Given the description of an element on the screen output the (x, y) to click on. 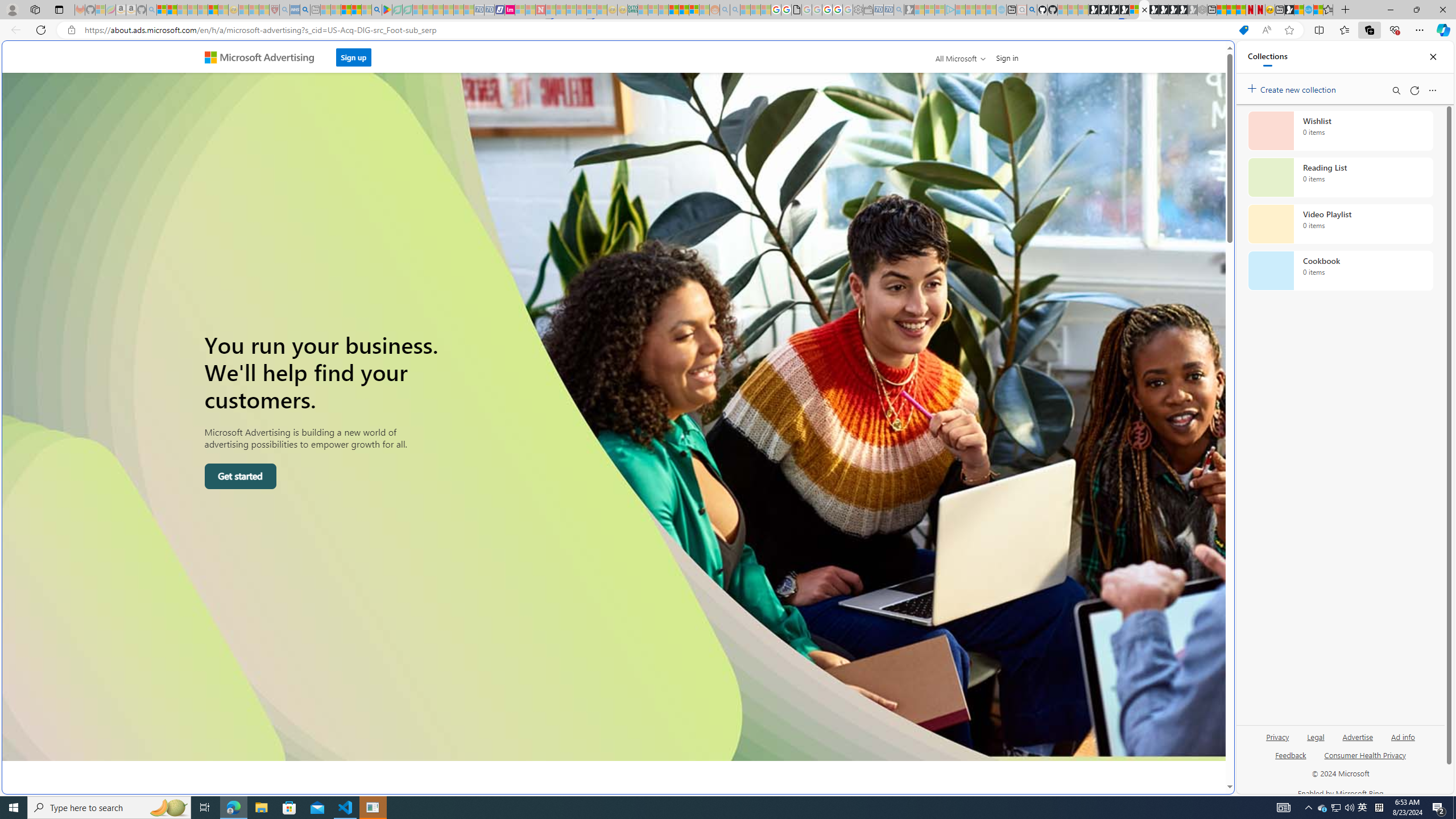
Create new collection (1293, 87)
Sign in to your account (1134, 9)
Expert Portfolios (673, 9)
